Given the description of an element on the screen output the (x, y) to click on. 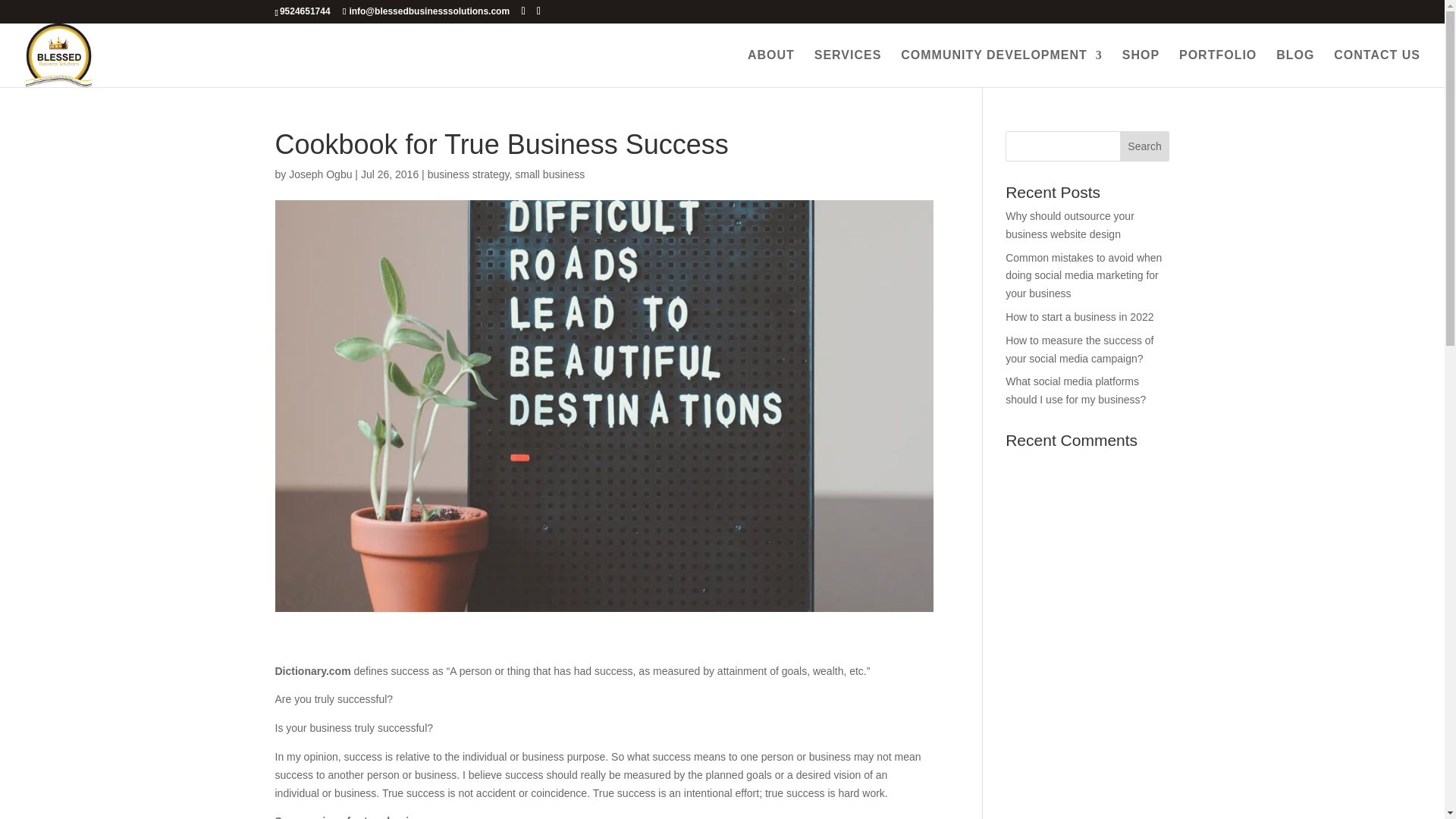
Joseph Ogbu (320, 174)
PORTFOLIO (1217, 67)
SERVICES (847, 67)
Posts by Joseph Ogbu (320, 174)
SHOP (1140, 67)
Search (1144, 146)
COMMUNITY DEVELOPMENT (1001, 67)
Why should outsource your business website design (1070, 224)
small business (550, 174)
business strategy (468, 174)
